Given the description of an element on the screen output the (x, y) to click on. 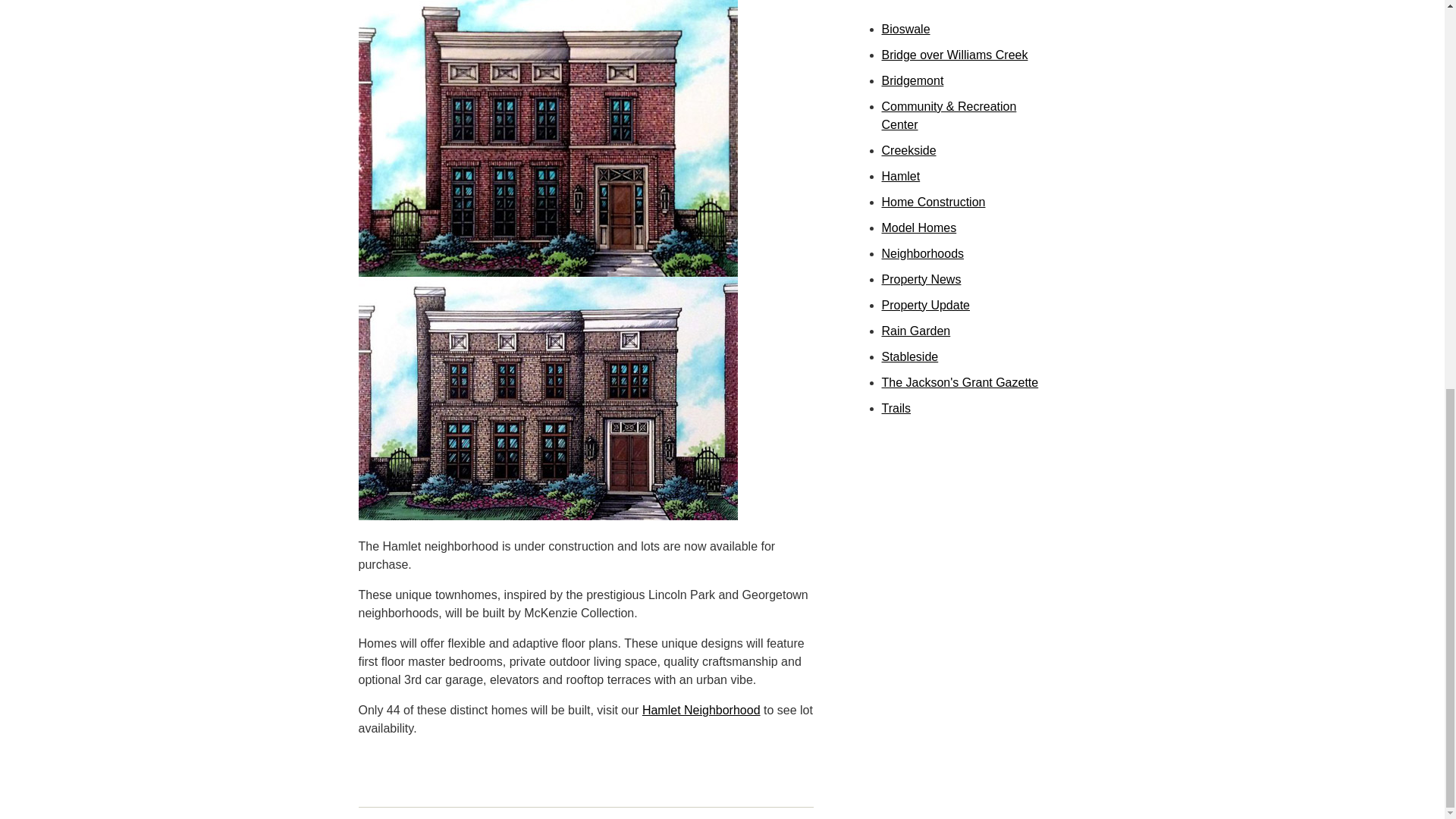
Bridge over Williams Creek (953, 54)
Hamlet Neighborhood (701, 709)
Creekside (908, 150)
Home Construction (932, 201)
Bioswale (905, 29)
Hamlet (900, 175)
Bridgemont (911, 80)
